Given the description of an element on the screen output the (x, y) to click on. 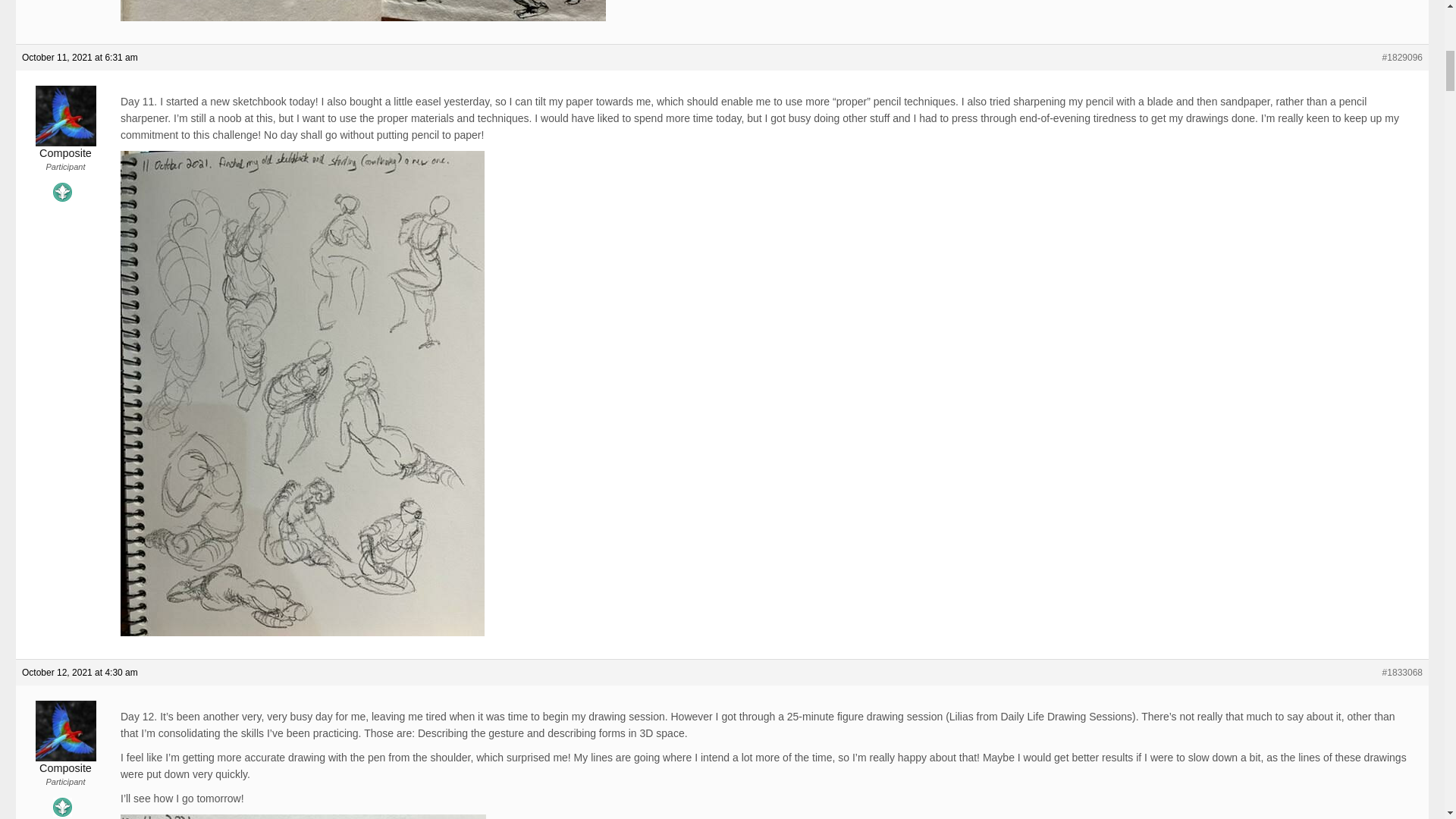
This artist is an active subscriber to New Masters Academy. (61, 191)
View Composite's profile (65, 761)
View Composite's profile (65, 146)
This artist is an active subscriber to New Masters Academy. (61, 806)
